Given the description of an element on the screen output the (x, y) to click on. 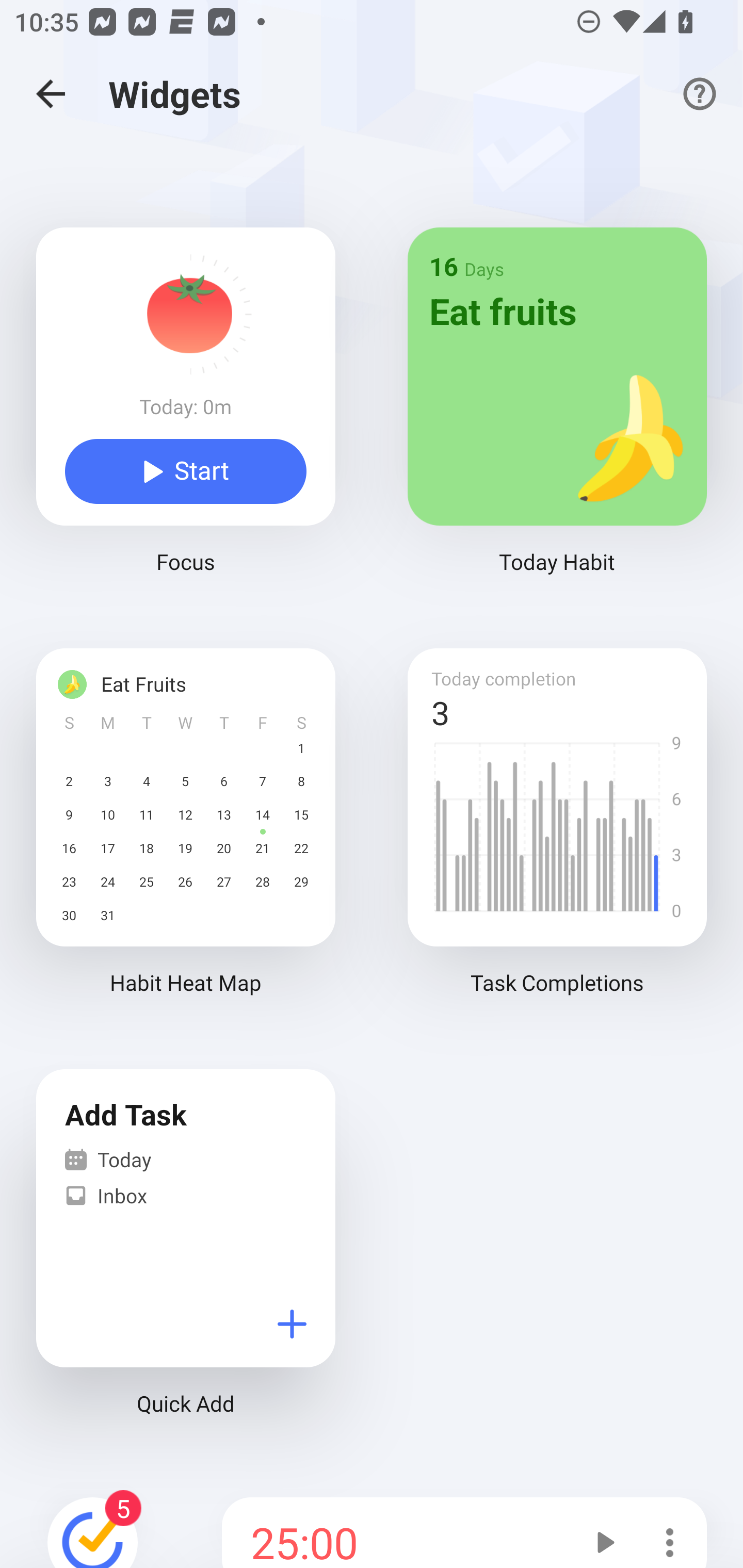
Today: 0m Start Focus (185, 420)
16 Days Eat fruits Today Habit (557, 420)
Today: 0m Start (185, 376)
16 Days Eat fruits (556, 376)
Start (185, 471)
Today completion 3 Task Completions (557, 840)
Today completion 3 (556, 797)
Add Task Today Inbox Quick Add (185, 1261)
Add Task Today Inbox (185, 1218)
5 (92, 1528)
25:00 (395, 1532)
